Given the description of an element on the screen output the (x, y) to click on. 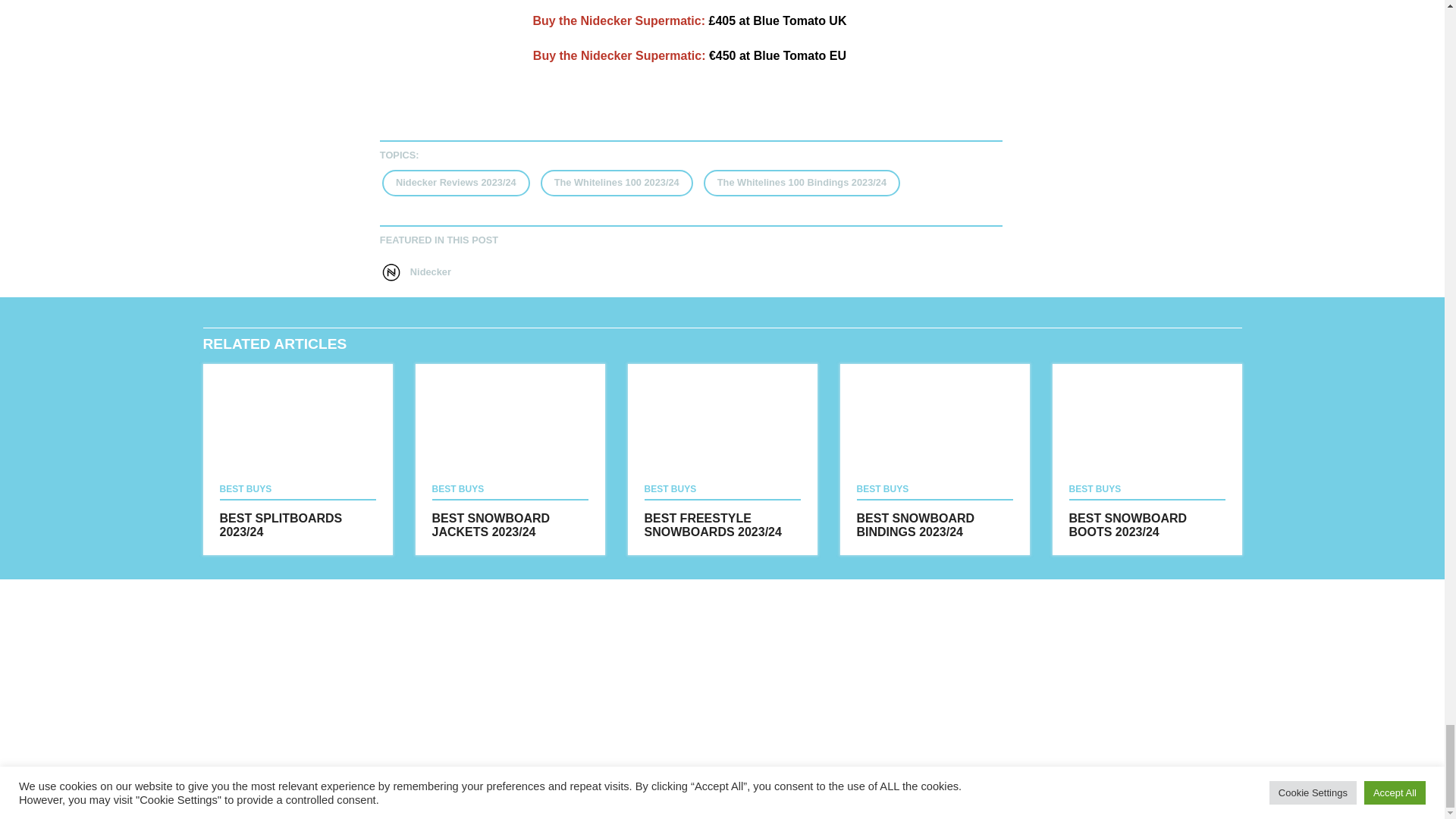
Nidecker (453, 272)
